Given the description of an element on the screen output the (x, y) to click on. 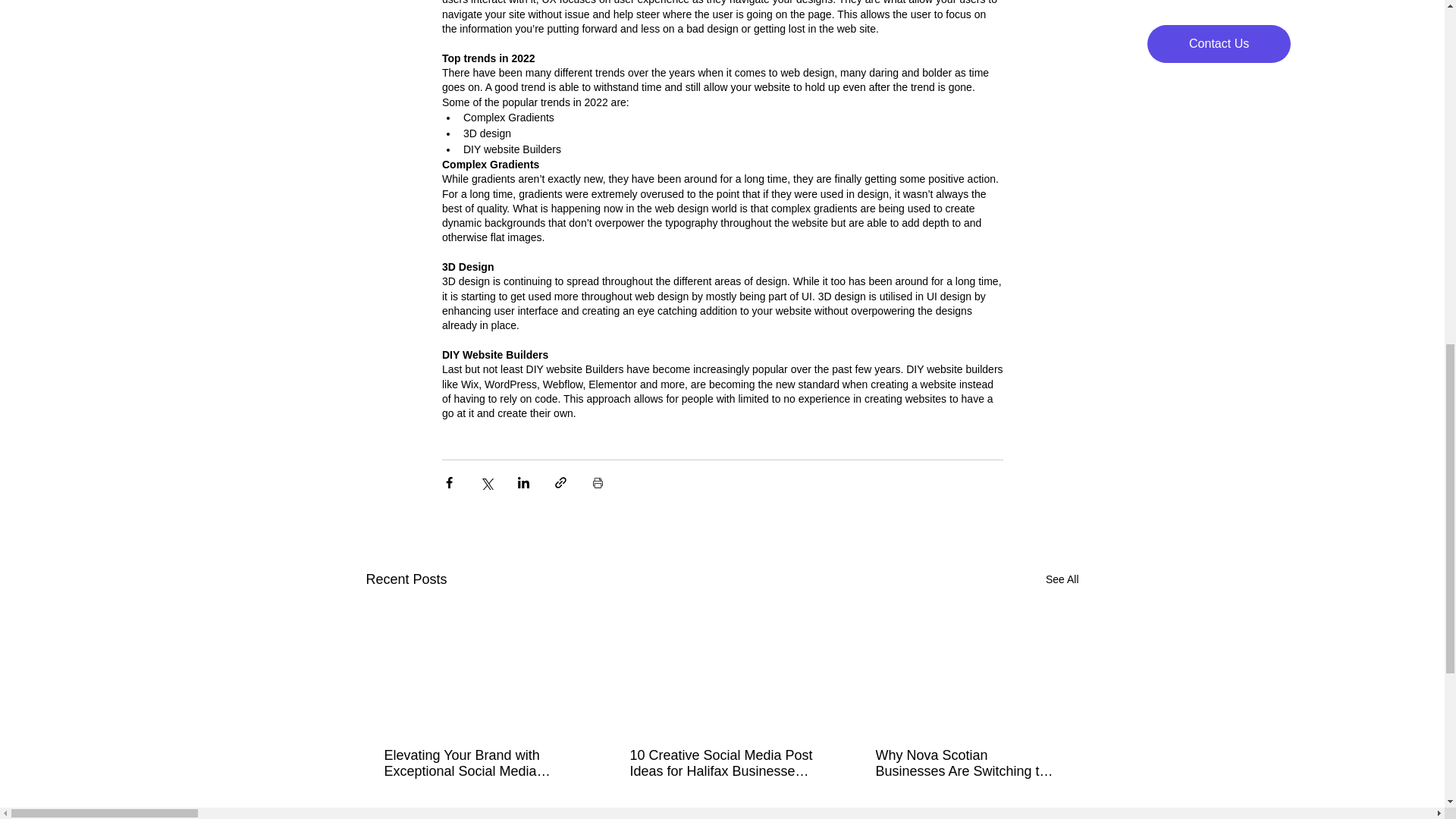
See All (1061, 579)
